Given the description of an element on the screen output the (x, y) to click on. 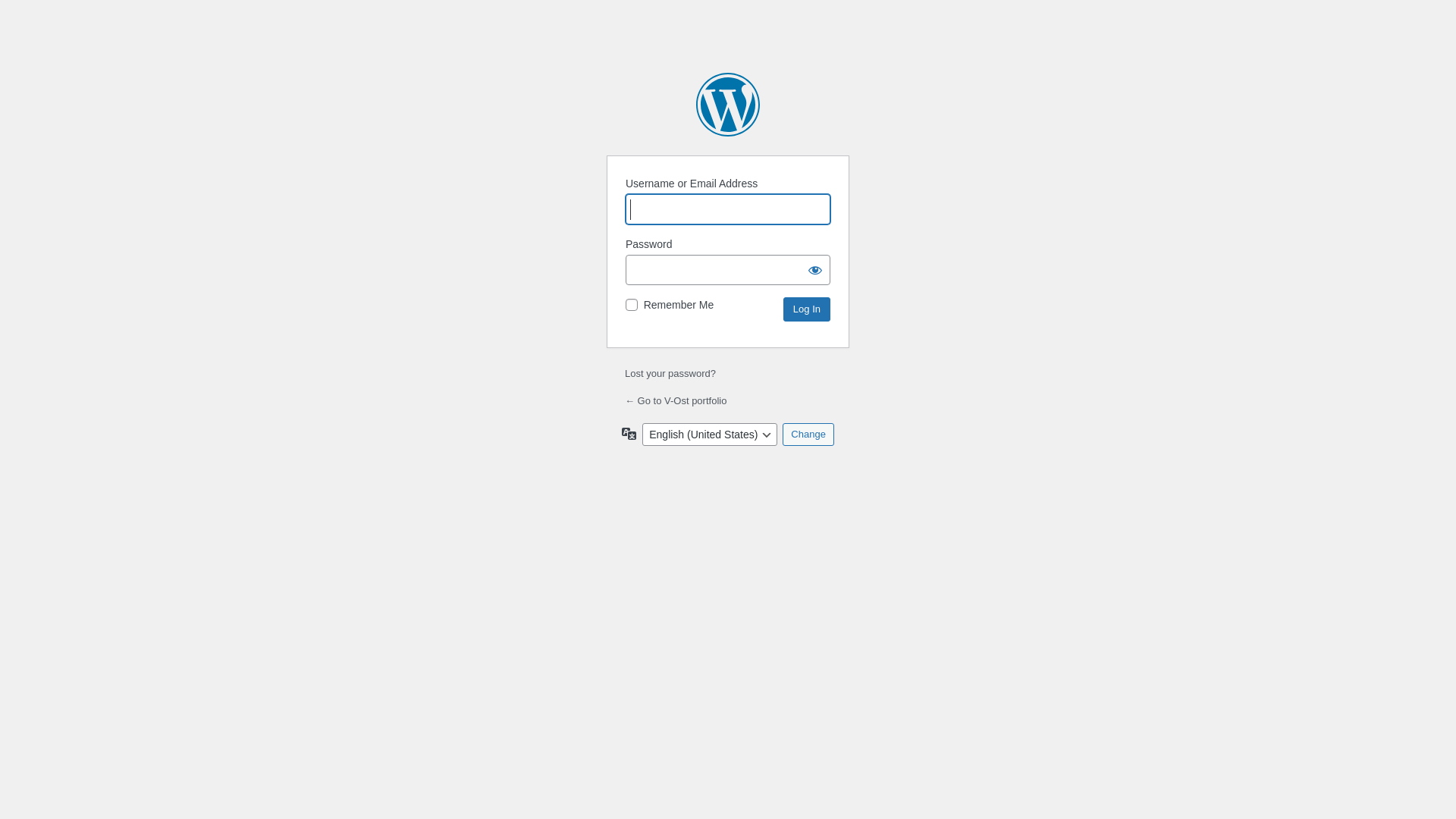
Change Element type: text (808, 434)
Powered by WordPress Element type: text (727, 104)
Log In Element type: text (806, 309)
Lost your password? Element type: text (669, 373)
